Given the description of an element on the screen output the (x, y) to click on. 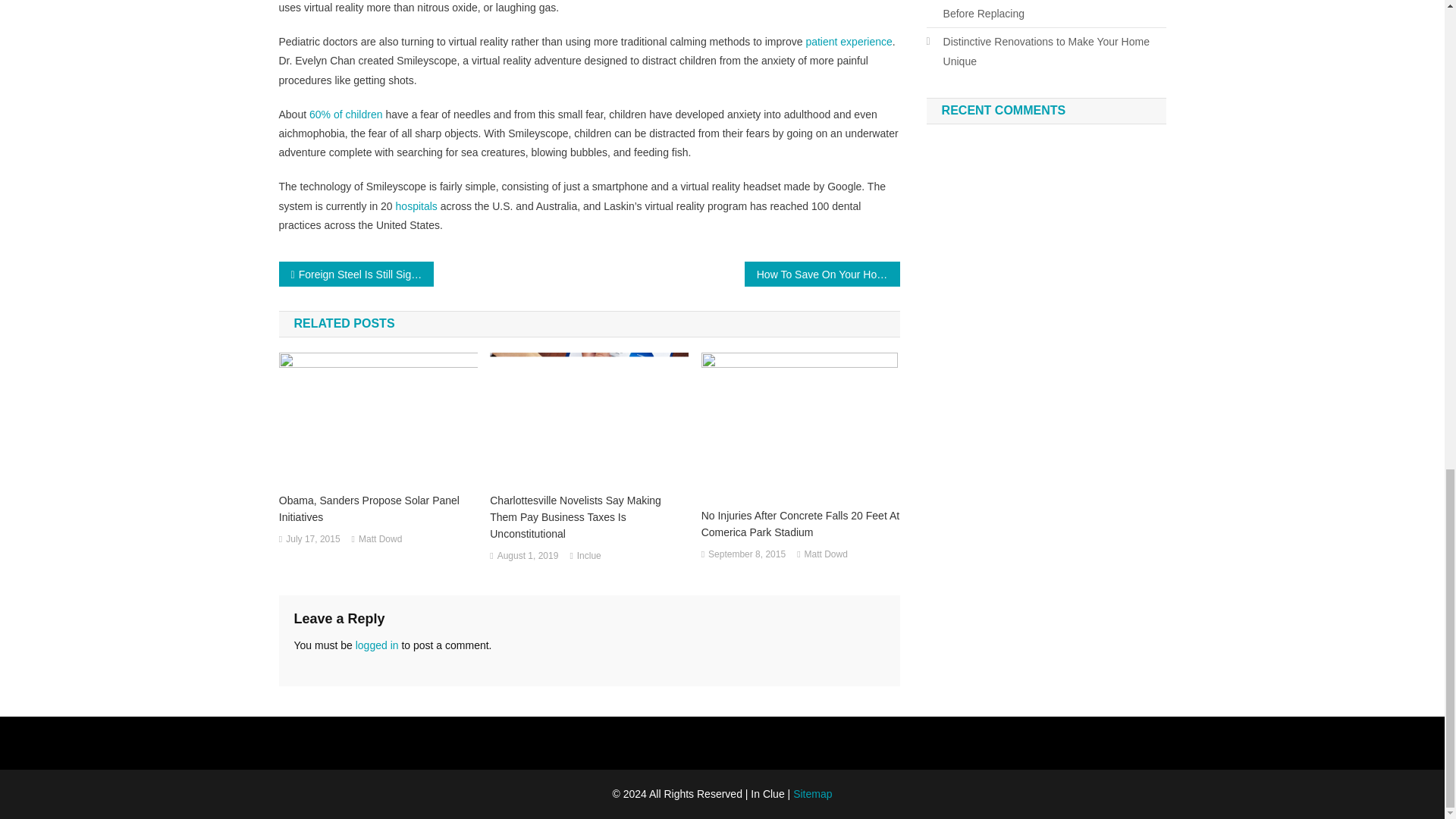
patient experience (848, 41)
hospitals (417, 205)
July 17, 2015 (312, 539)
Inclue (588, 556)
How To Save On Your Home Energy Bills This Winter (821, 273)
Matt Dowd (379, 539)
Matt Dowd (826, 555)
Obama, Sanders Propose Solar Panel Initiatives (378, 508)
